Given the description of an element on the screen output the (x, y) to click on. 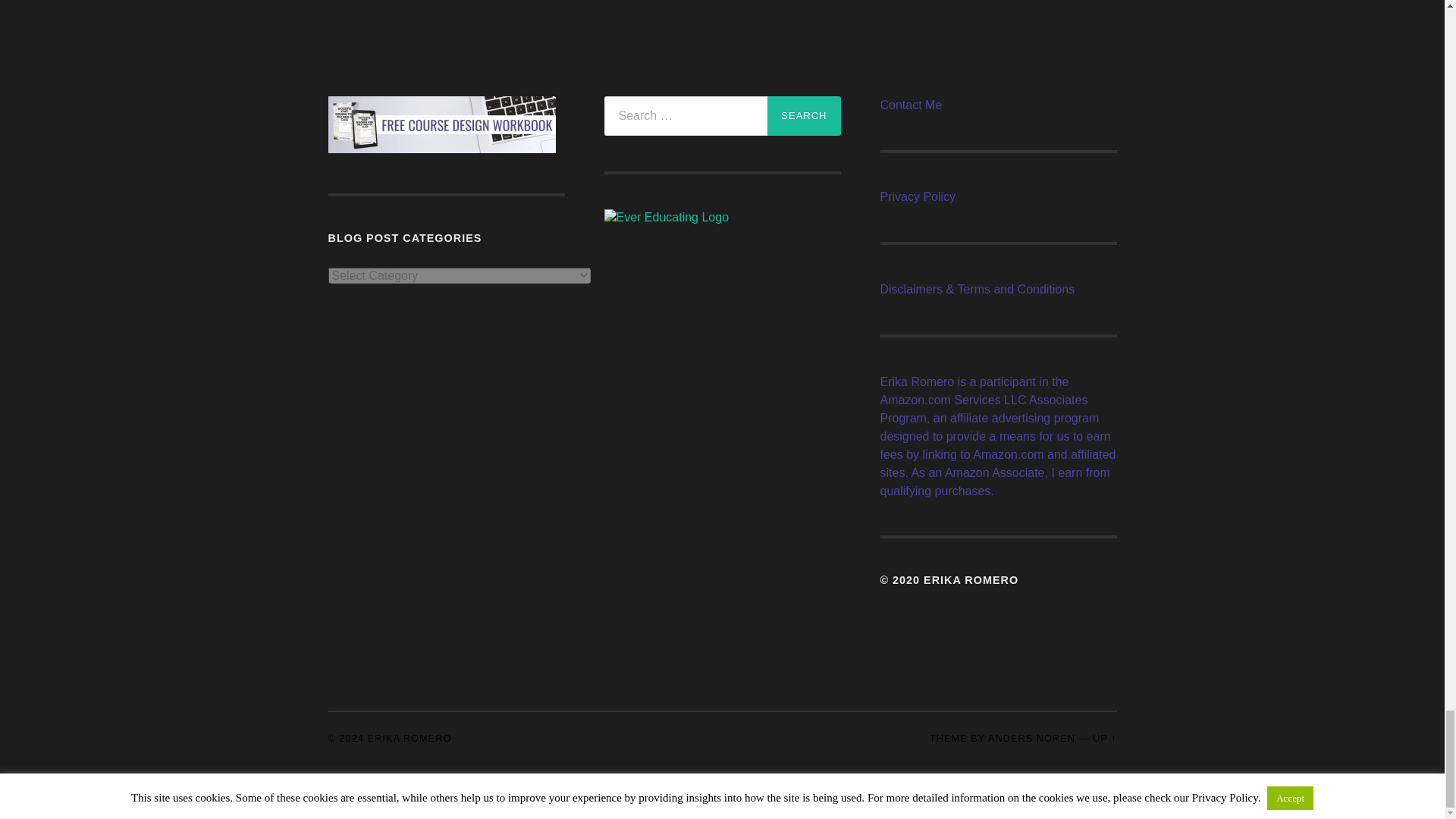
Search (803, 115)
Search (803, 115)
